Given the description of an element on the screen output the (x, y) to click on. 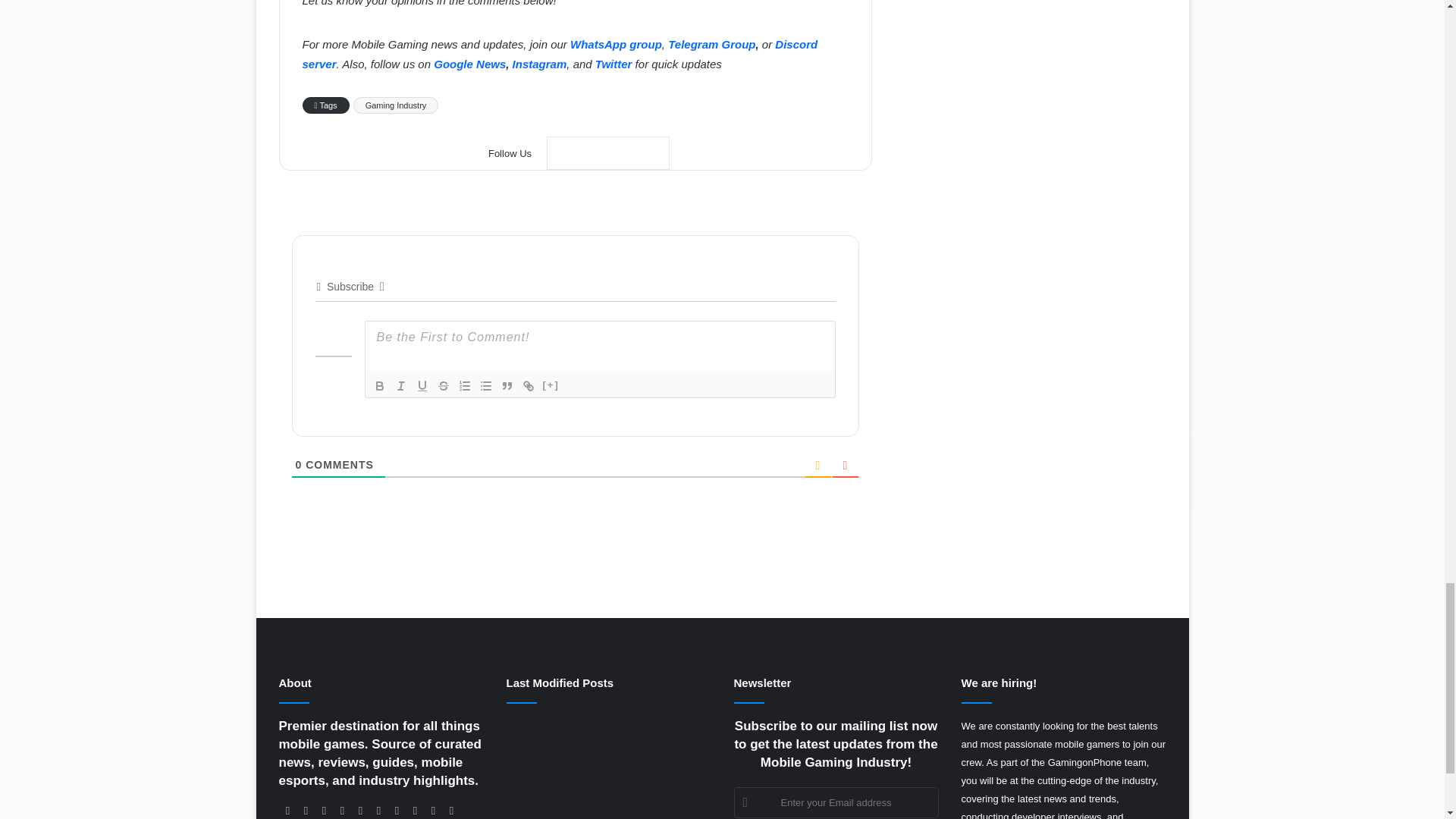
Underline (421, 385)
Unordered List (485, 385)
Ordered List (463, 385)
Strike (442, 385)
Bold (379, 385)
Google News (608, 152)
Italic (400, 385)
